Given the description of an element on the screen output the (x, y) to click on. 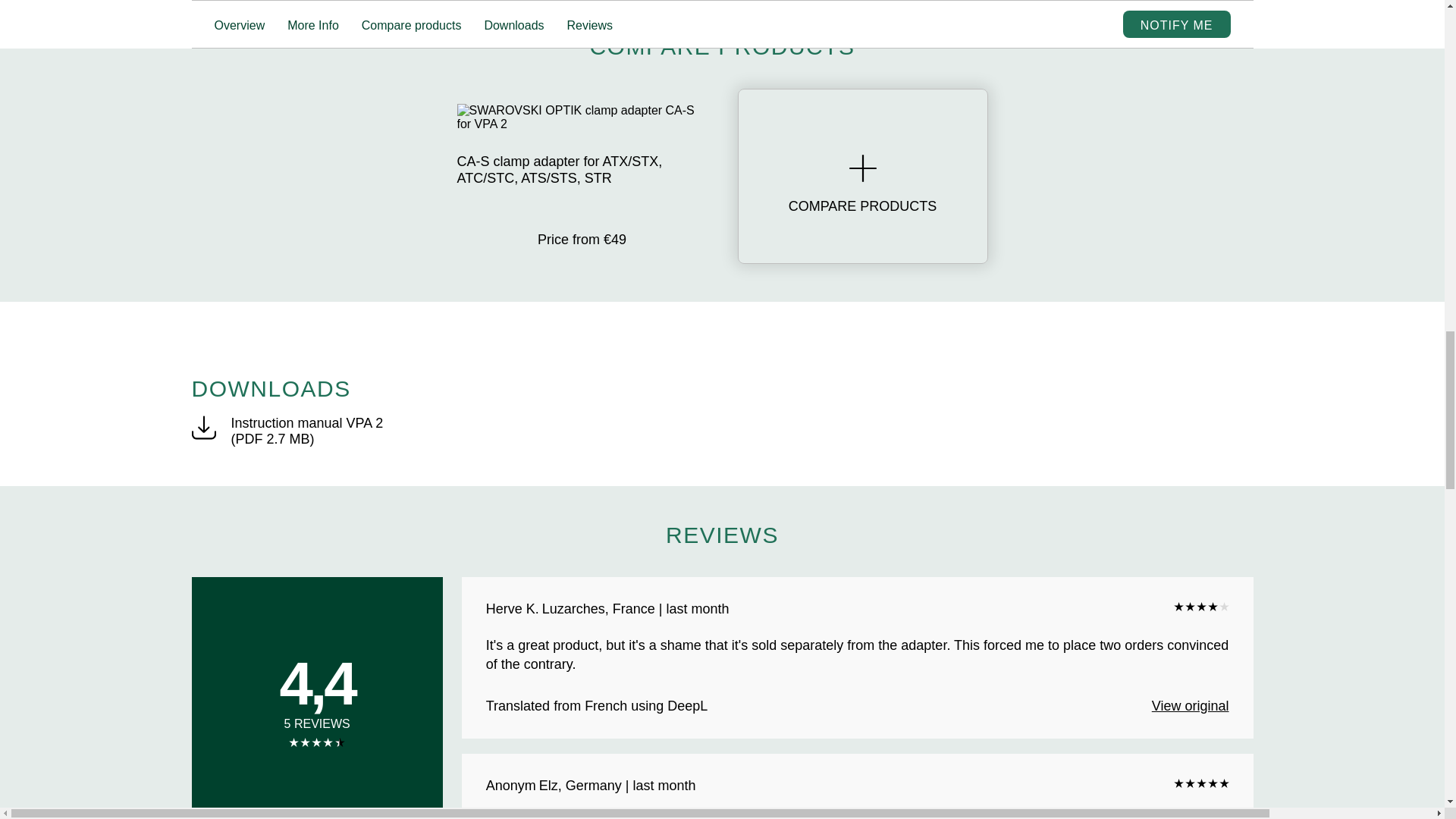
2024-06-27T10:22:05.000Z (635, 609)
2024-06-27T11:40:53.000Z (616, 786)
